Given the description of an element on the screen output the (x, y) to click on. 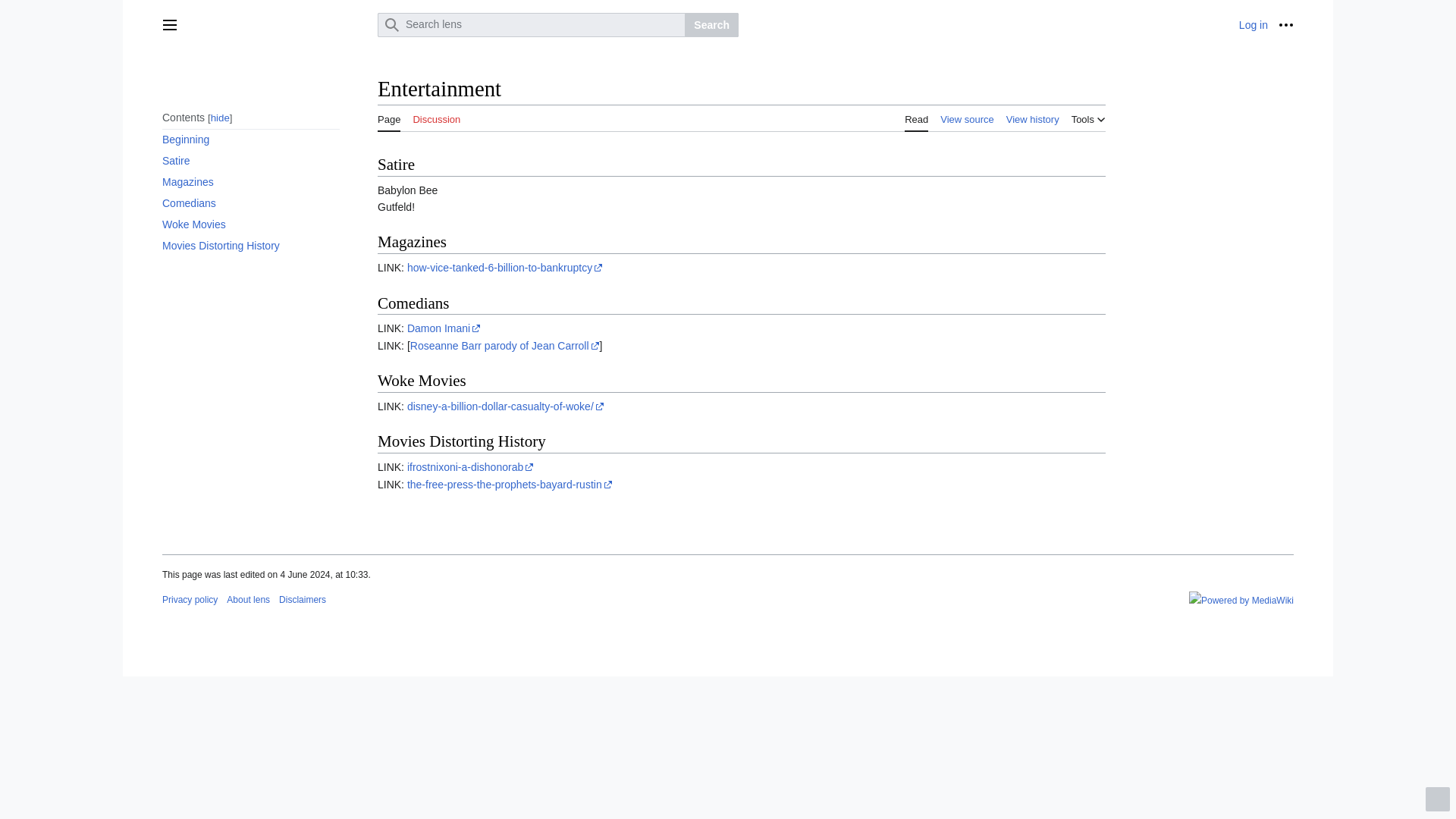
Search (711, 24)
View history (1032, 117)
how-vice-tanked-6-billion-to-bankruptcy (504, 267)
Roseanne Barr parody of Jean Carroll (504, 345)
View source (967, 117)
Beginning (250, 138)
Movies Distorting History (250, 245)
ifrostnixoni-a-dishonorab (470, 467)
Woke Movies (250, 224)
Discussion (436, 117)
hide (220, 117)
Damon Imani (443, 328)
Log in (1253, 24)
Comedians (250, 202)
the-free-press-the-prophets-bayard-rustin (509, 484)
